Given the description of an element on the screen output the (x, y) to click on. 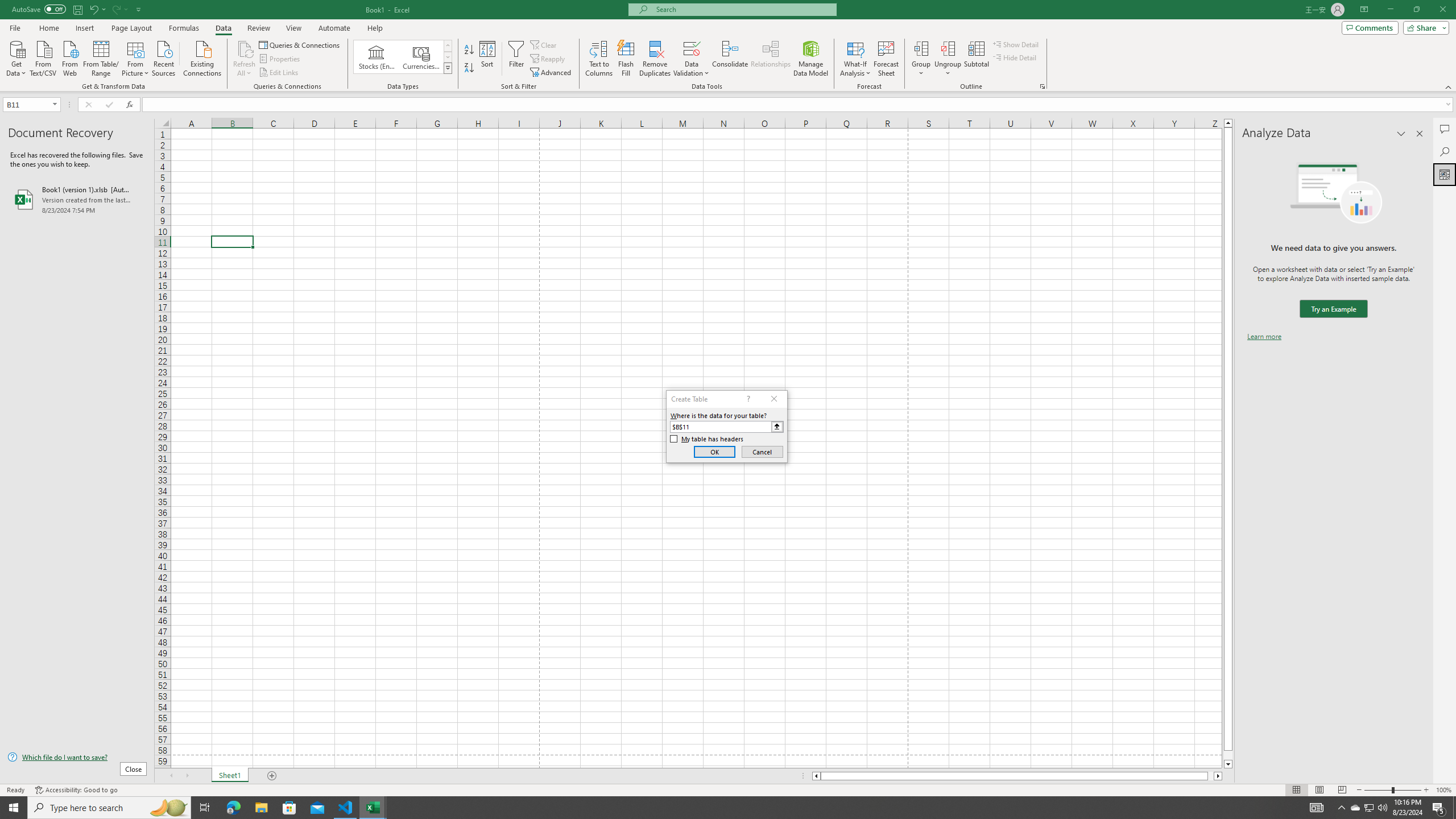
Get Data (16, 57)
Queries & Connections (300, 44)
From Table/Range (100, 57)
Learn more (1264, 336)
Show Detail (1016, 44)
